Given the description of an element on the screen output the (x, y) to click on. 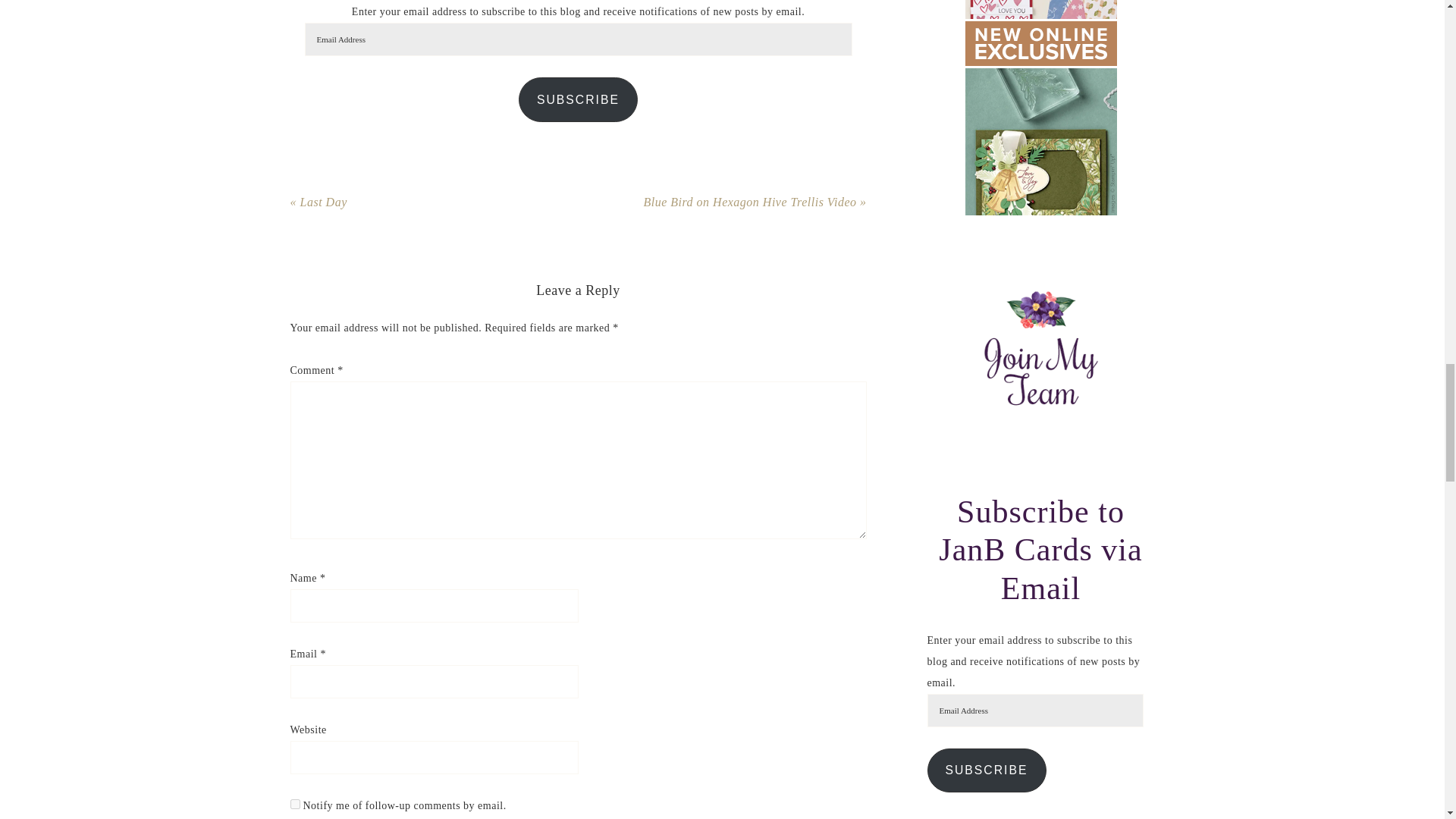
SUBSCRIBE (577, 99)
subscribe (294, 804)
